Given the description of an element on the screen output the (x, y) to click on. 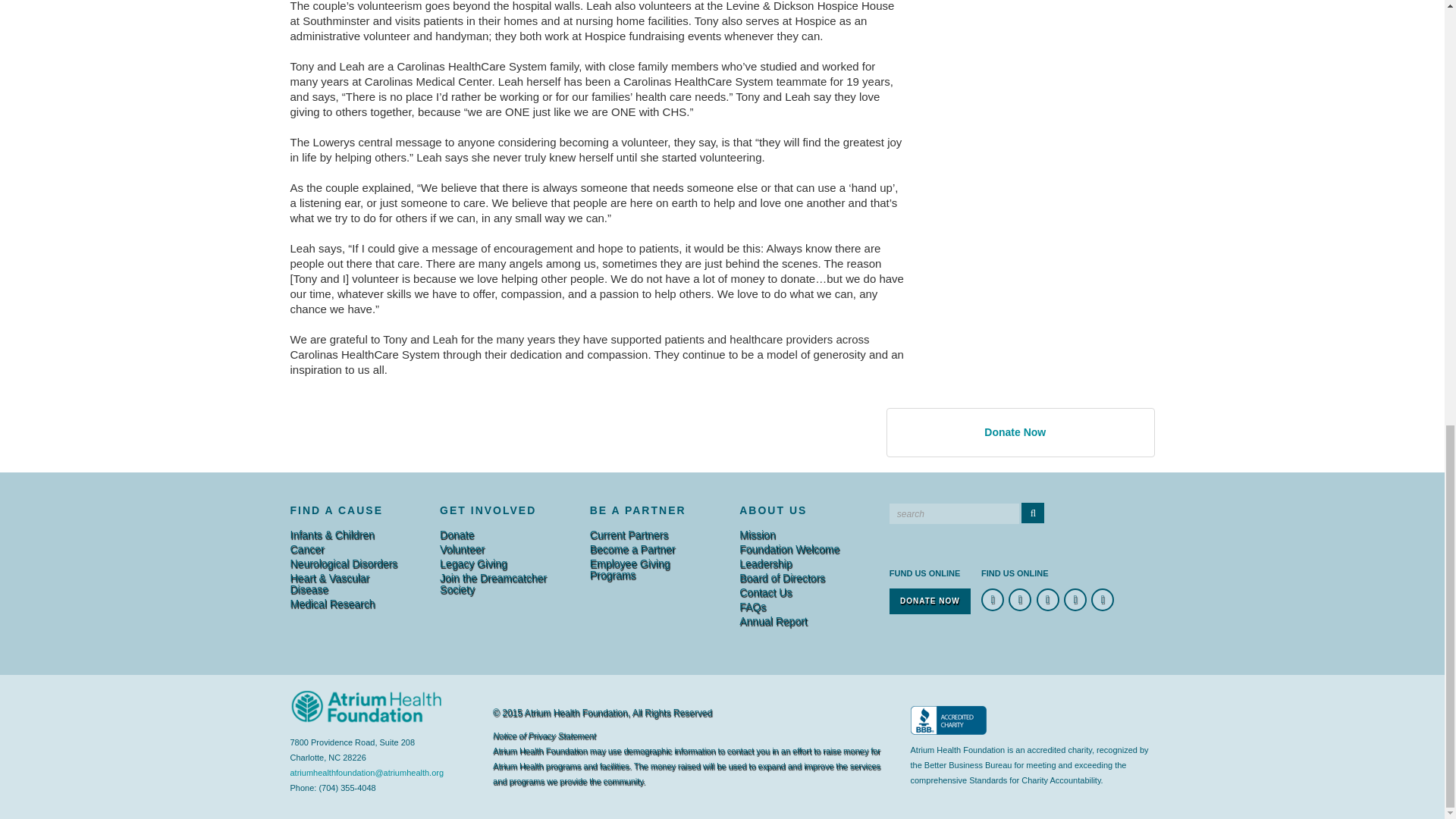
BBB Accredited Charity Charlotte (947, 719)
search (954, 513)
search (954, 513)
